Given the description of an element on the screen output the (x, y) to click on. 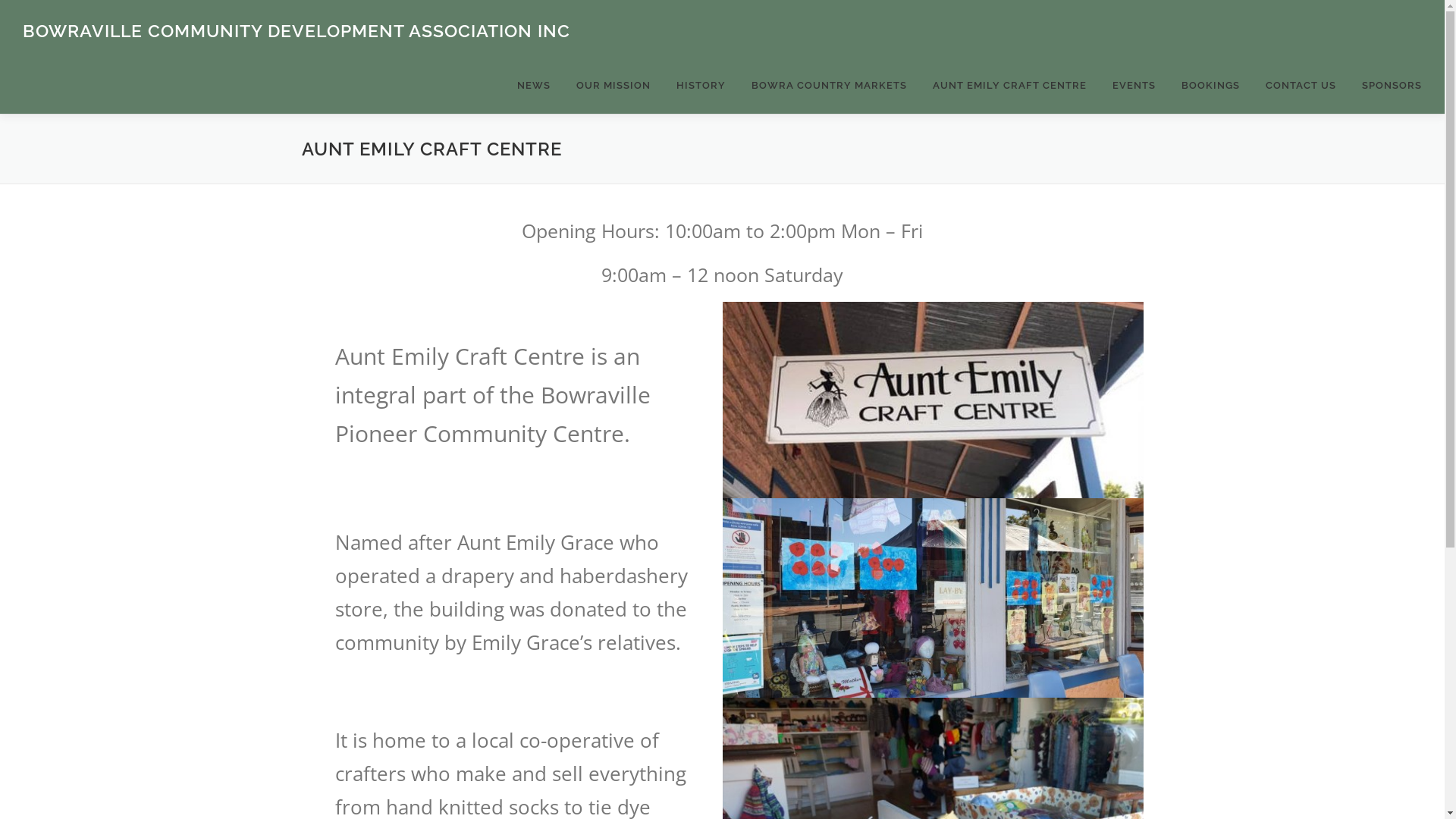
CONTACT US Element type: text (1300, 84)
SPONSORS Element type: text (1385, 84)
OUR MISSION Element type: text (613, 84)
AUNT EMILY CRAFT CENTRE Element type: text (1009, 84)
EVENTS Element type: text (1133, 84)
BOWRA COUNTRY MARKETS Element type: text (828, 84)
NEWS Element type: text (533, 84)
BOWRAVILLE COMMUNITY DEVELOPMENT ASSOCIATION INC Element type: text (296, 30)
HISTORY Element type: text (700, 84)
BOOKINGS Element type: text (1210, 84)
